Given the description of an element on the screen output the (x, y) to click on. 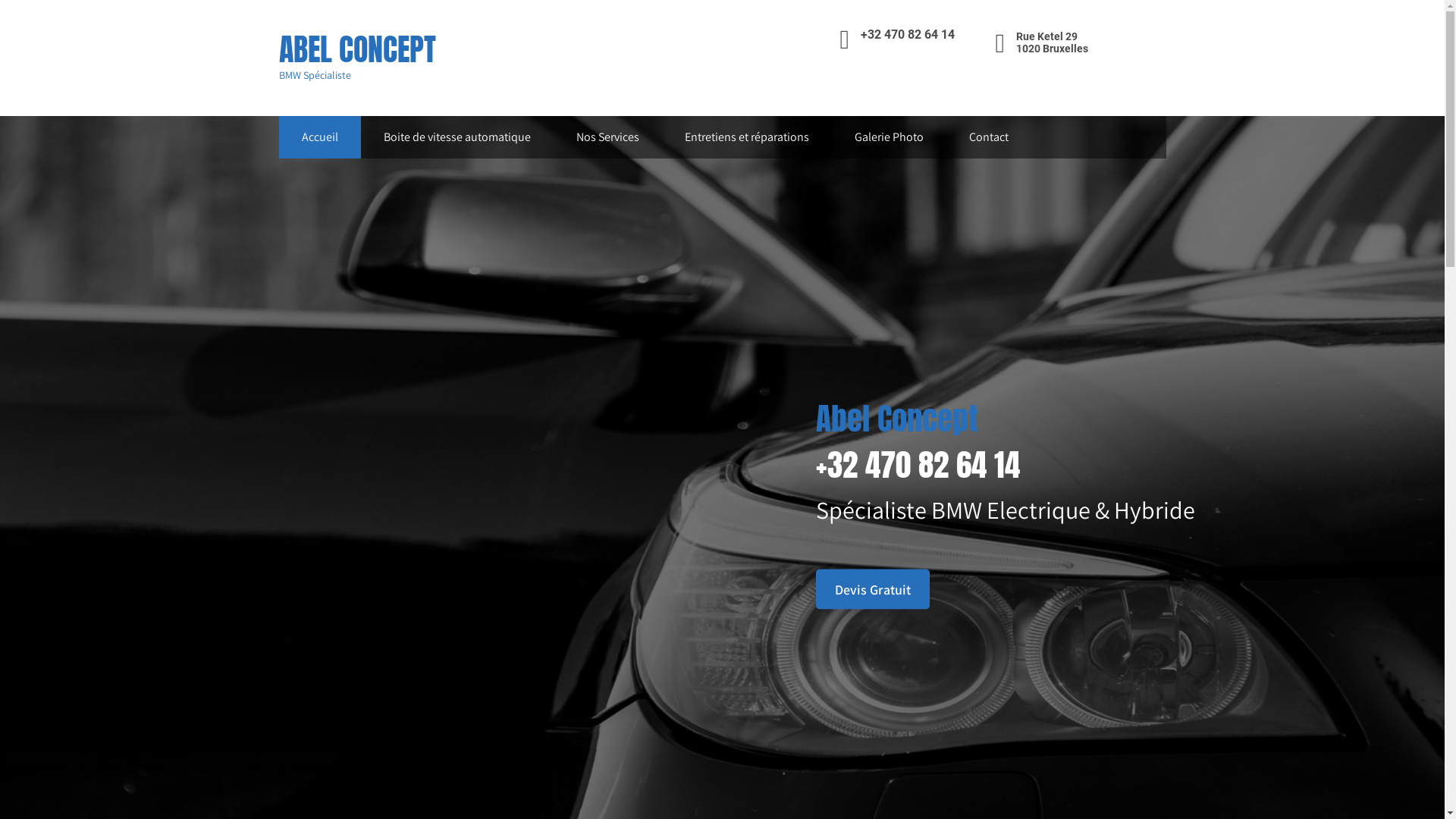
Galerie Photo Element type: text (888, 137)
Boite de vitesse automatique Element type: text (456, 137)
Contact Element type: text (988, 137)
ABEL CONCEPT Element type: text (357, 49)
Devis Gratuit Element type: text (872, 588)
Nos Services Element type: text (607, 137)
Accueil Element type: text (319, 137)
